Given the description of an element on the screen output the (x, y) to click on. 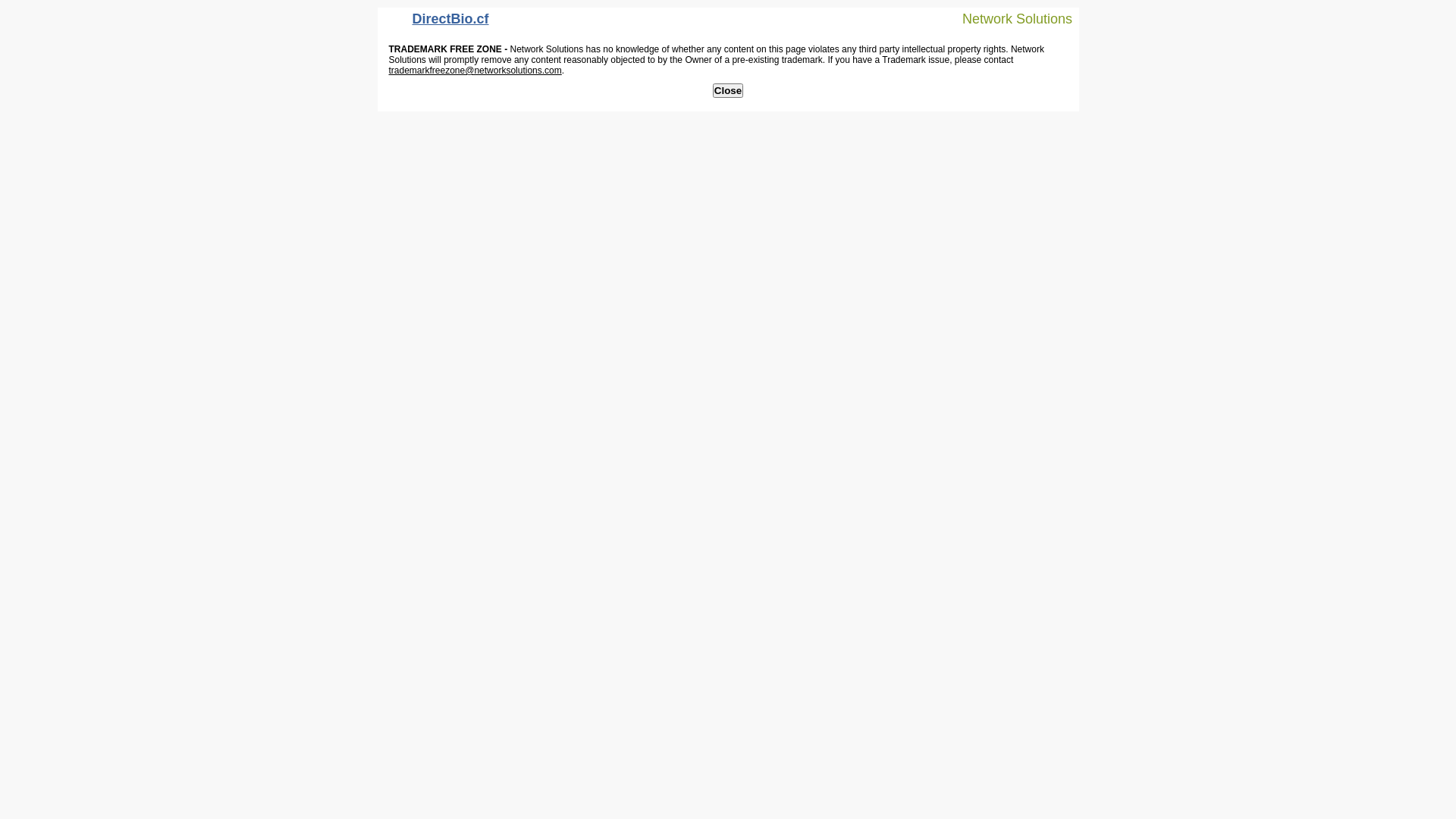
trademarkfreezone@networksolutions.com Element type: text (474, 70)
DirectBio.cf Element type: text (437, 21)
Network Solutions Element type: text (1007, 17)
Close Element type: text (727, 90)
